Given the description of an element on the screen output the (x, y) to click on. 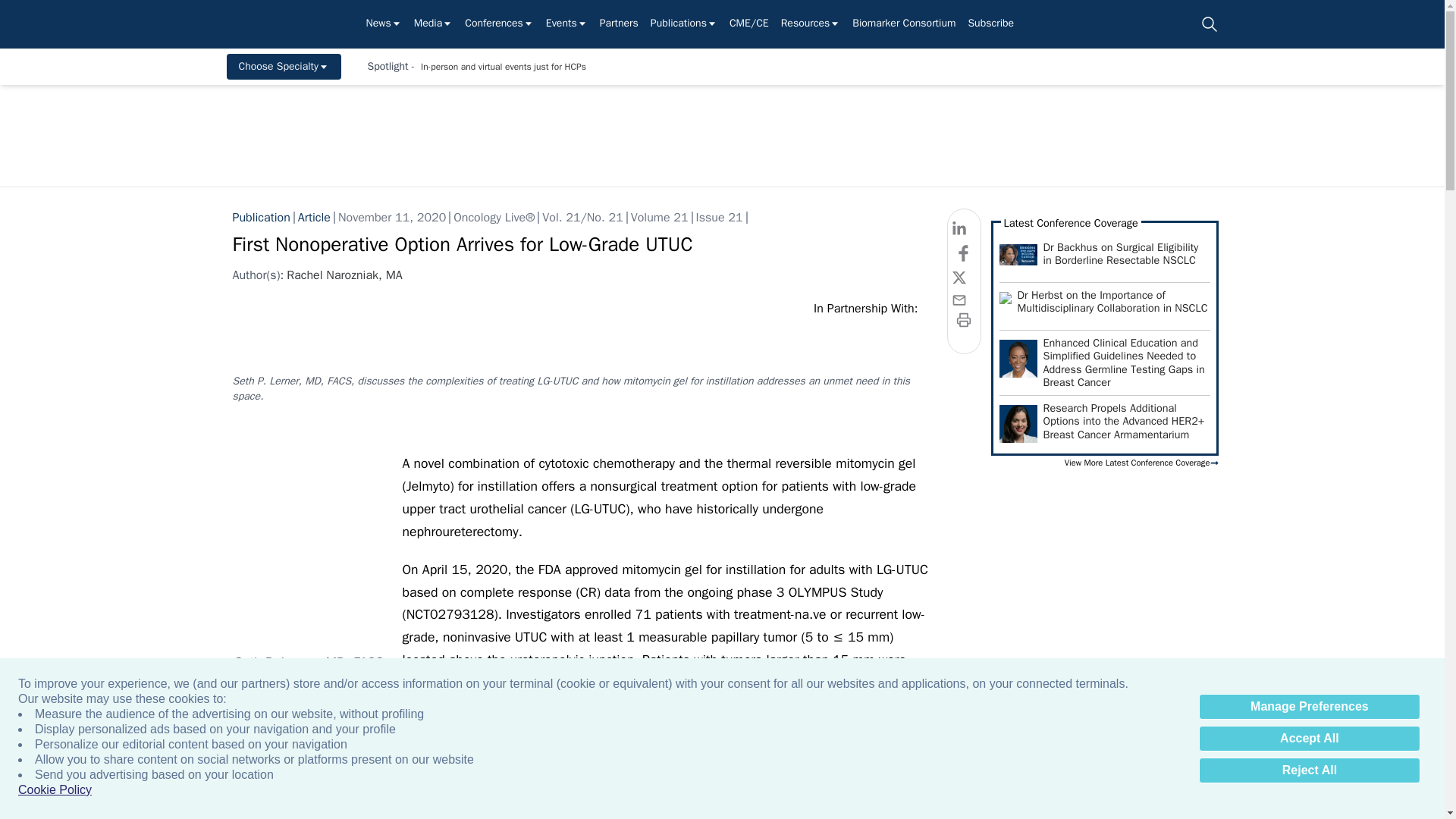
Conferences (499, 23)
Partners (619, 23)
Events (567, 23)
News (383, 23)
Manage Preferences (1309, 706)
Reject All (1309, 769)
Media (432, 23)
Accept All (1309, 738)
Publications (683, 23)
Resources (810, 23)
